Given the description of an element on the screen output the (x, y) to click on. 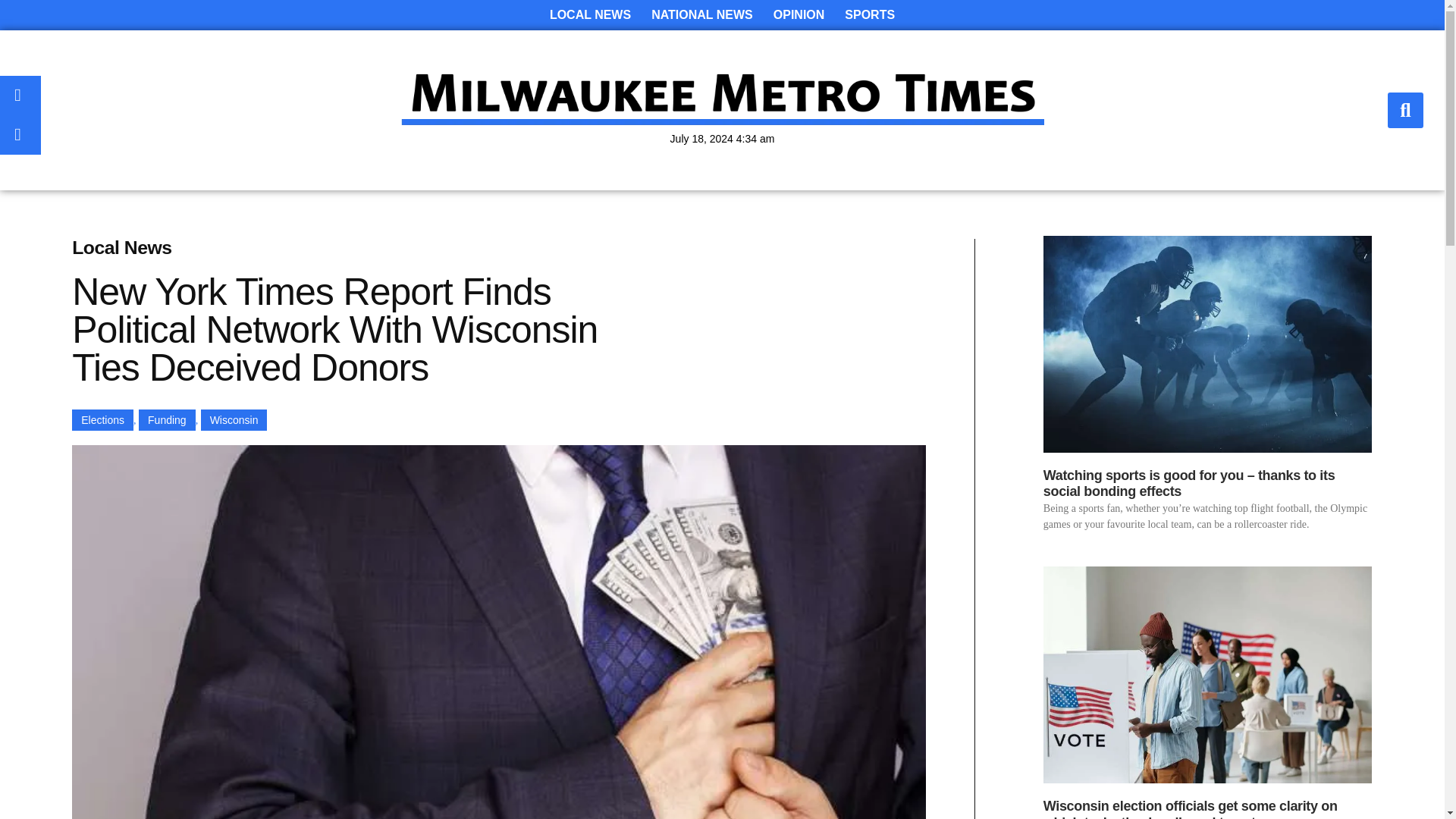
LOCAL NEWS (590, 15)
Elections (102, 419)
NATIONAL NEWS (701, 15)
SPORTS (869, 15)
Funding (166, 419)
Wisconsin (233, 419)
OPINION (798, 15)
